Given the description of an element on the screen output the (x, y) to click on. 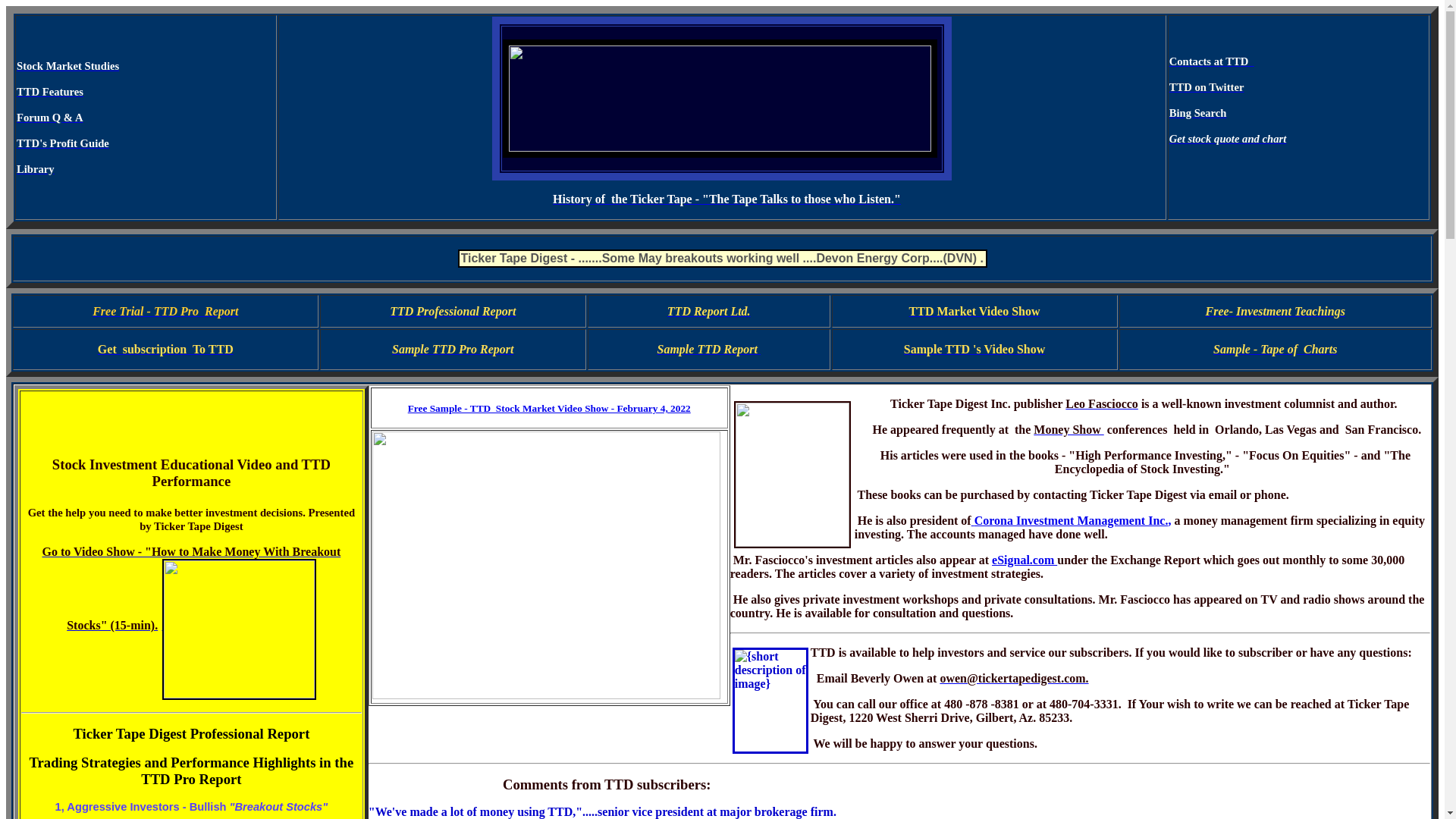
Sample - Tape of  Charts (1274, 349)
Library (35, 168)
Sample TTD Pro Report (452, 349)
TTD Report Ltd. (708, 310)
Get  subscription  To TTD (164, 349)
TTD's Profit Guide (62, 142)
TTD Market Video Show (974, 310)
Contacts at TTD (1209, 60)
Bing Search (1198, 112)
